Given the description of an element on the screen output the (x, y) to click on. 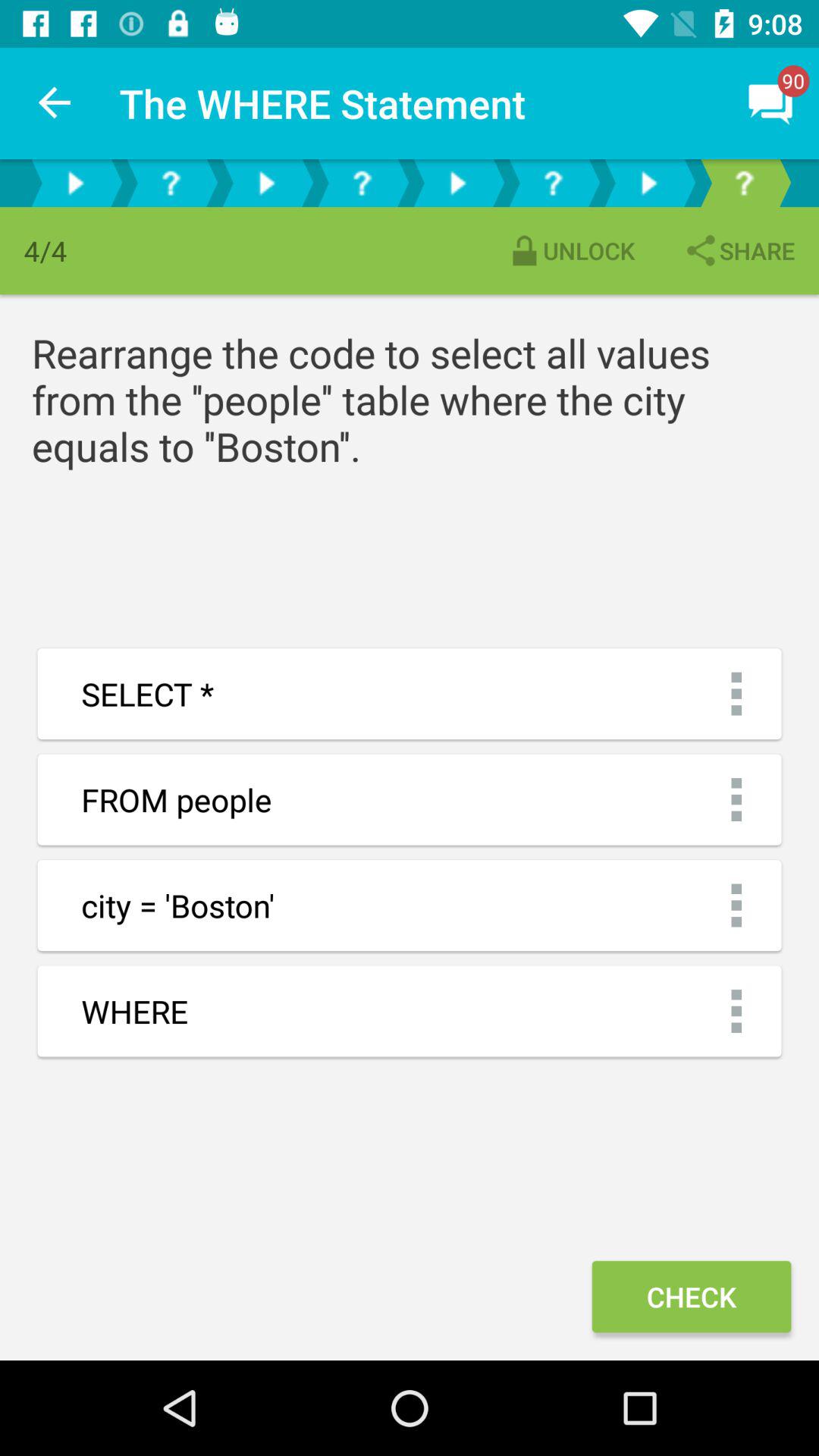
jump to the share (738, 250)
